Given the description of an element on the screen output the (x, y) to click on. 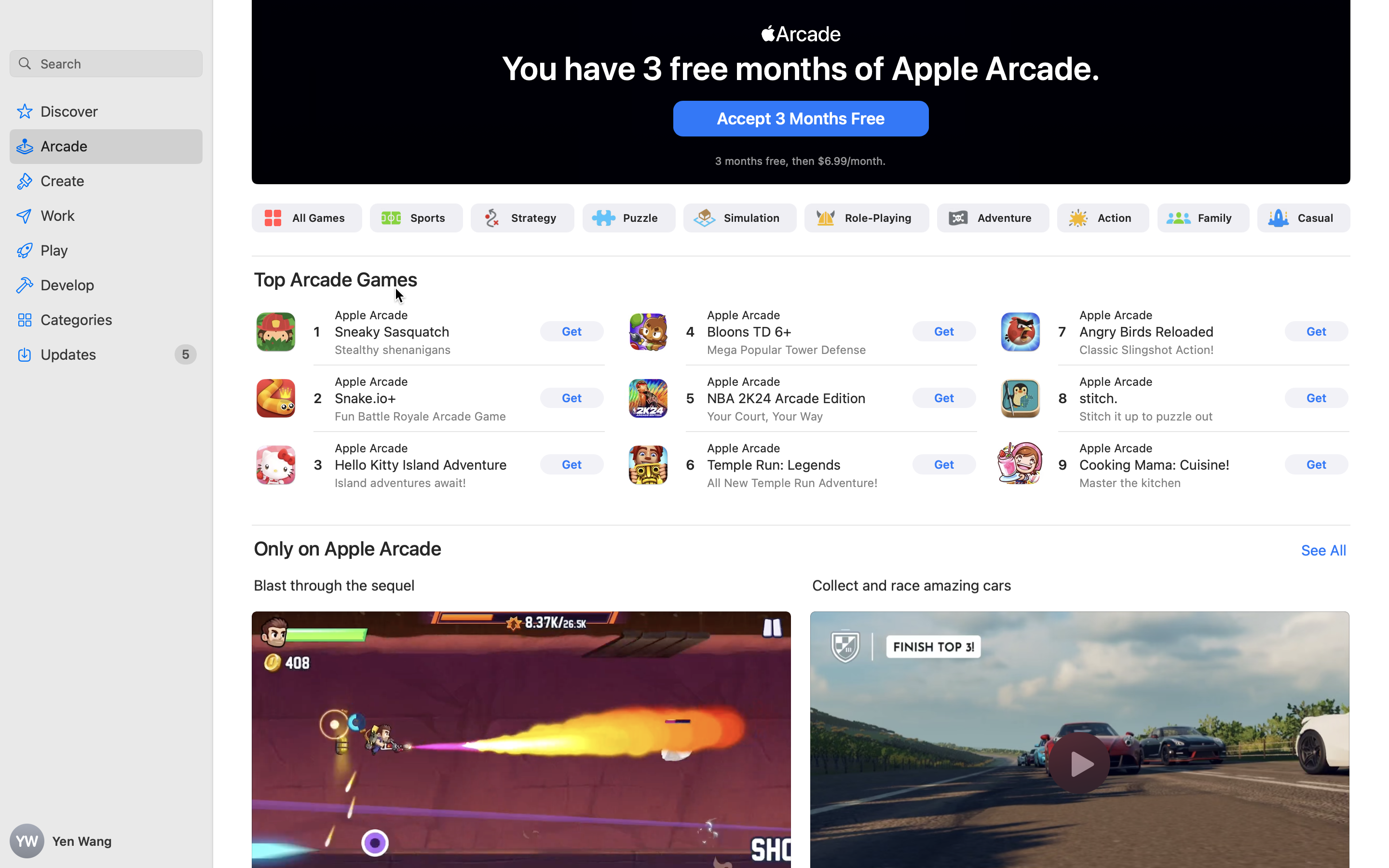
Only on Apple Arcade Element type: AXStaticText (347, 548)
Casual Element type: AXStaticText (1314, 217)
Yen Wang Element type: AXButton (106, 840)
Family Element type: AXStaticText (1215, 217)
Puzzle Element type: AXStaticText (640, 217)
